Given the description of an element on the screen output the (x, y) to click on. 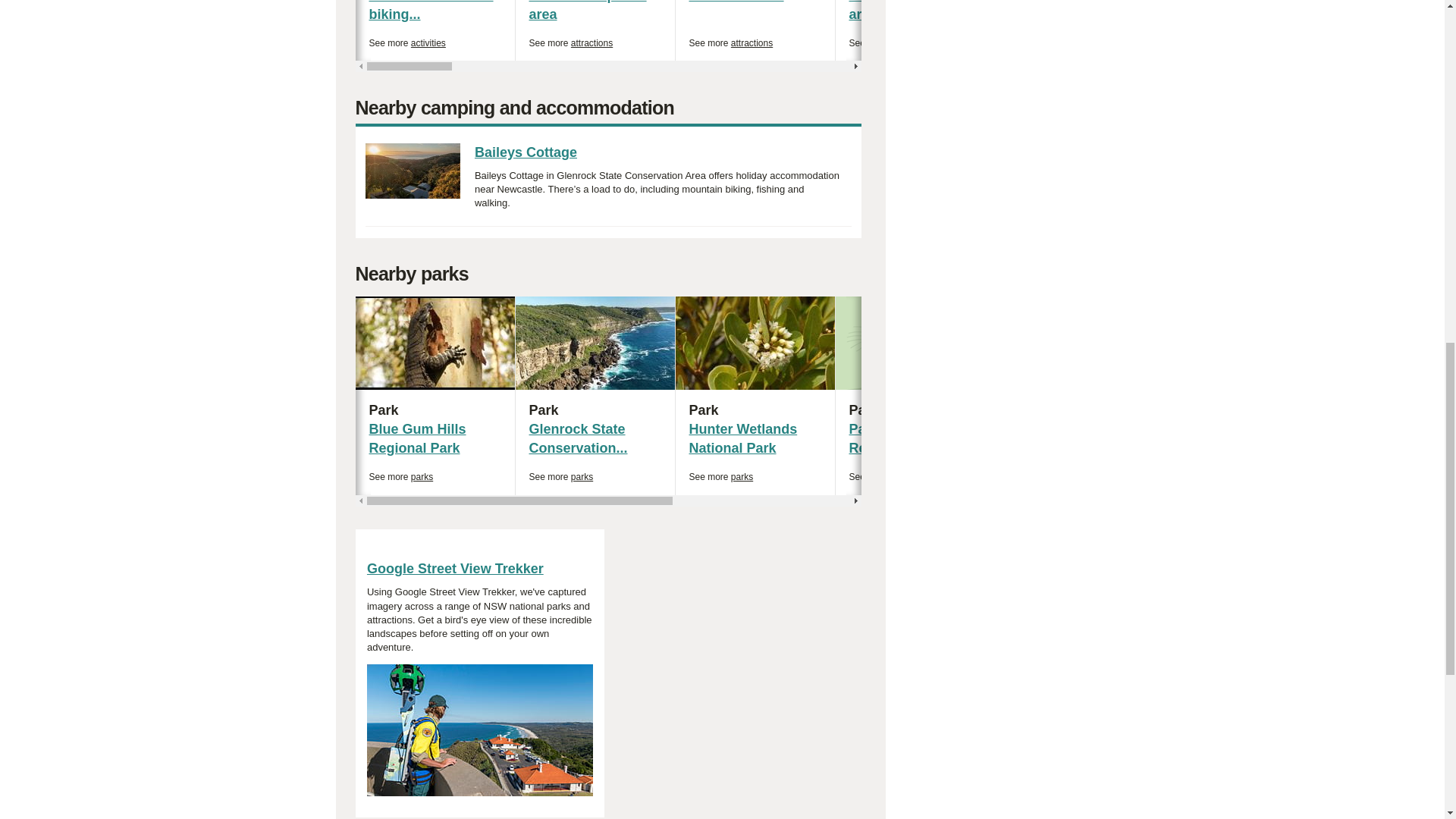
See more attractions (435, 30)
See more parks (890, 42)
Glenrock mountain biking trails (400, 477)
Village Green picnic area and playground (430, 11)
See more activities (913, 11)
See more attractions (406, 42)
See more parks (570, 42)
See more tours (881, 477)
See more parks (1358, 42)
Park (1041, 477)
See more attractions (754, 410)
